Given the description of an element on the screen output the (x, y) to click on. 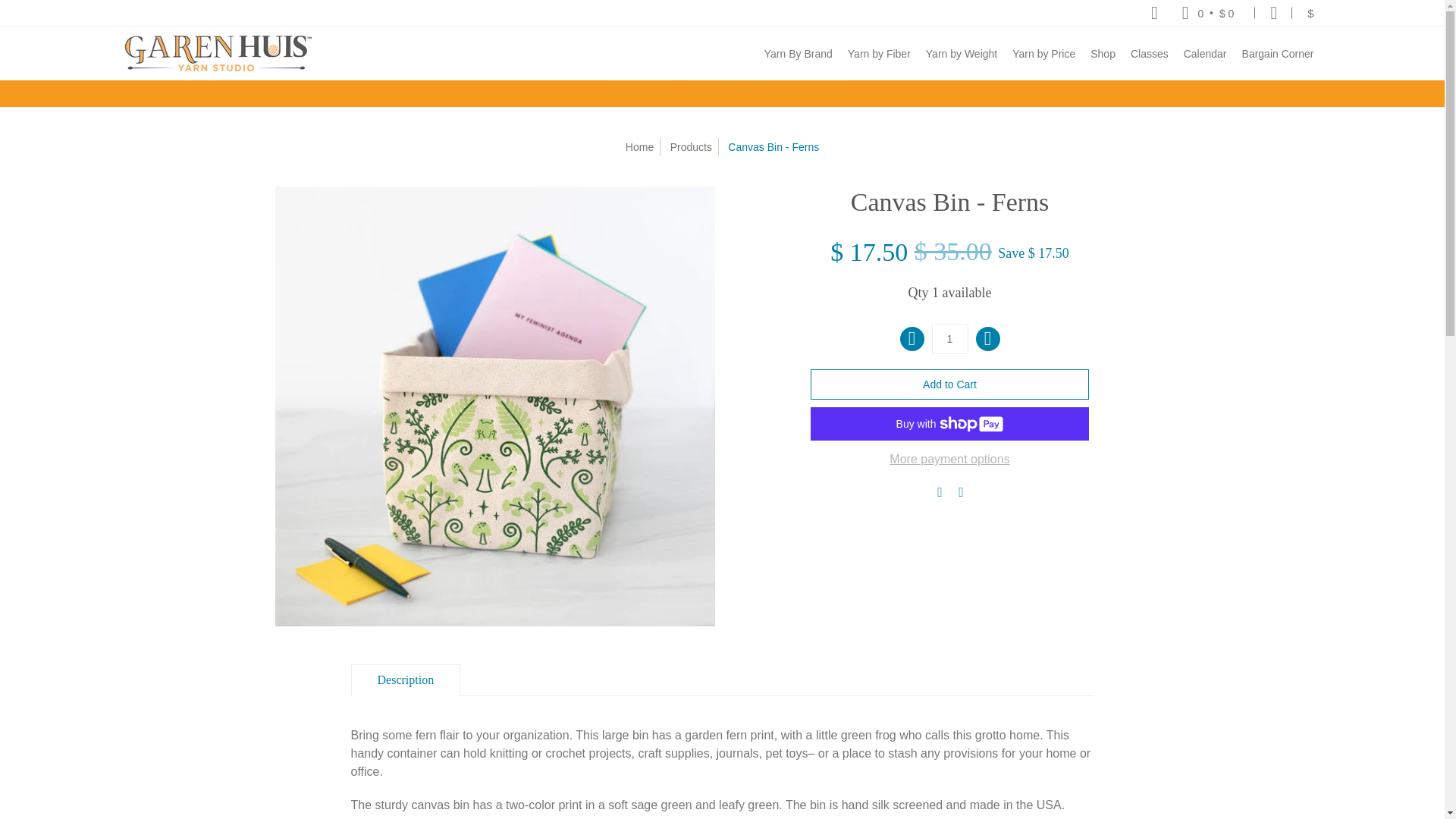
Yarn by Fiber (879, 53)
Add to Cart (949, 384)
GarenHuis Yarn Studio (217, 53)
Log in (1273, 12)
Cart (1208, 12)
Yarn By Brand (798, 53)
Search (1154, 12)
Yarn by Weight (961, 53)
1 (949, 338)
Update store currency (1309, 12)
Yarn By Brand (798, 53)
Yarn by Fiber (879, 53)
